Given the description of an element on the screen output the (x, y) to click on. 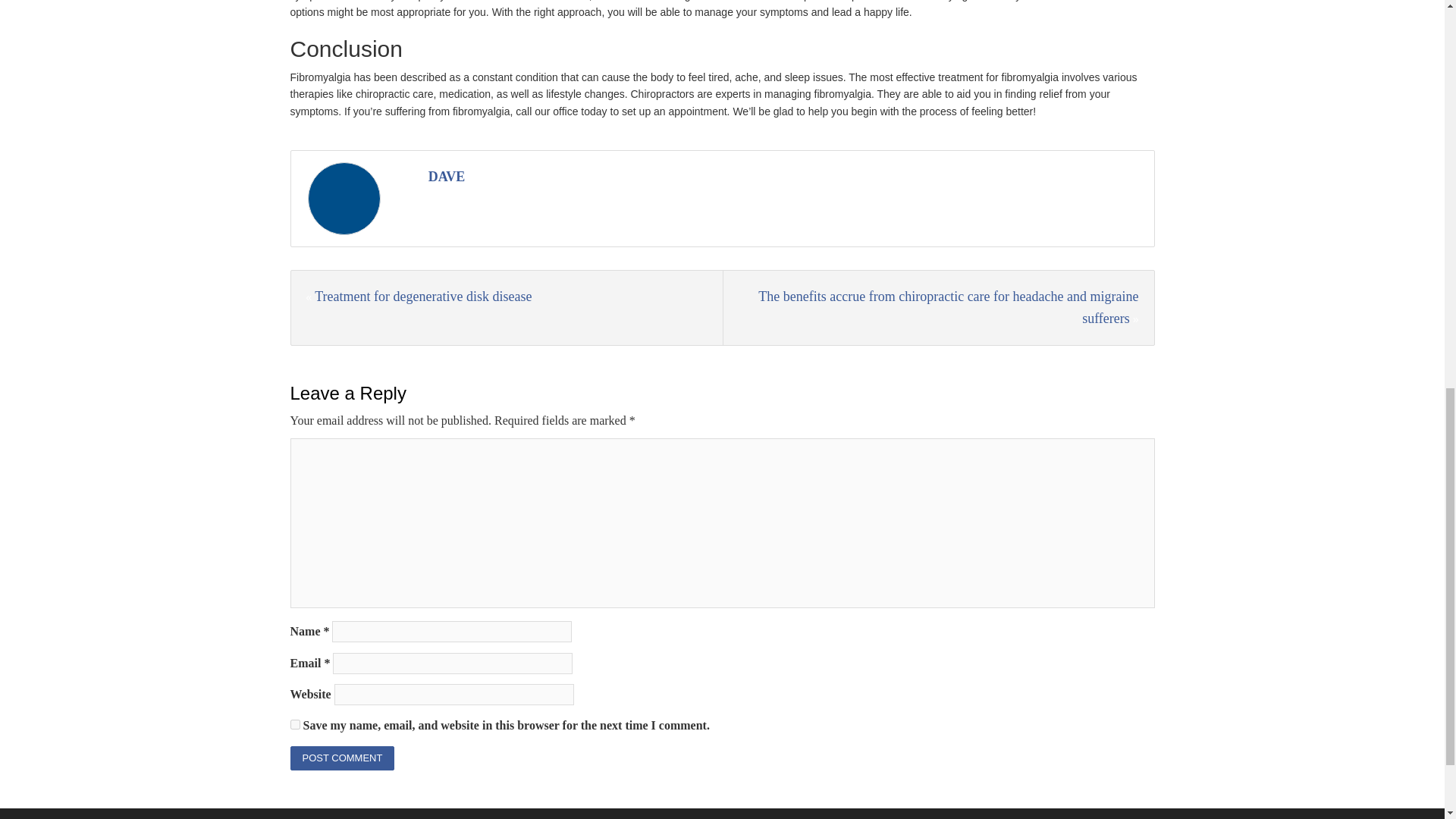
Post Comment (341, 758)
yes (294, 724)
